Given the description of an element on the screen output the (x, y) to click on. 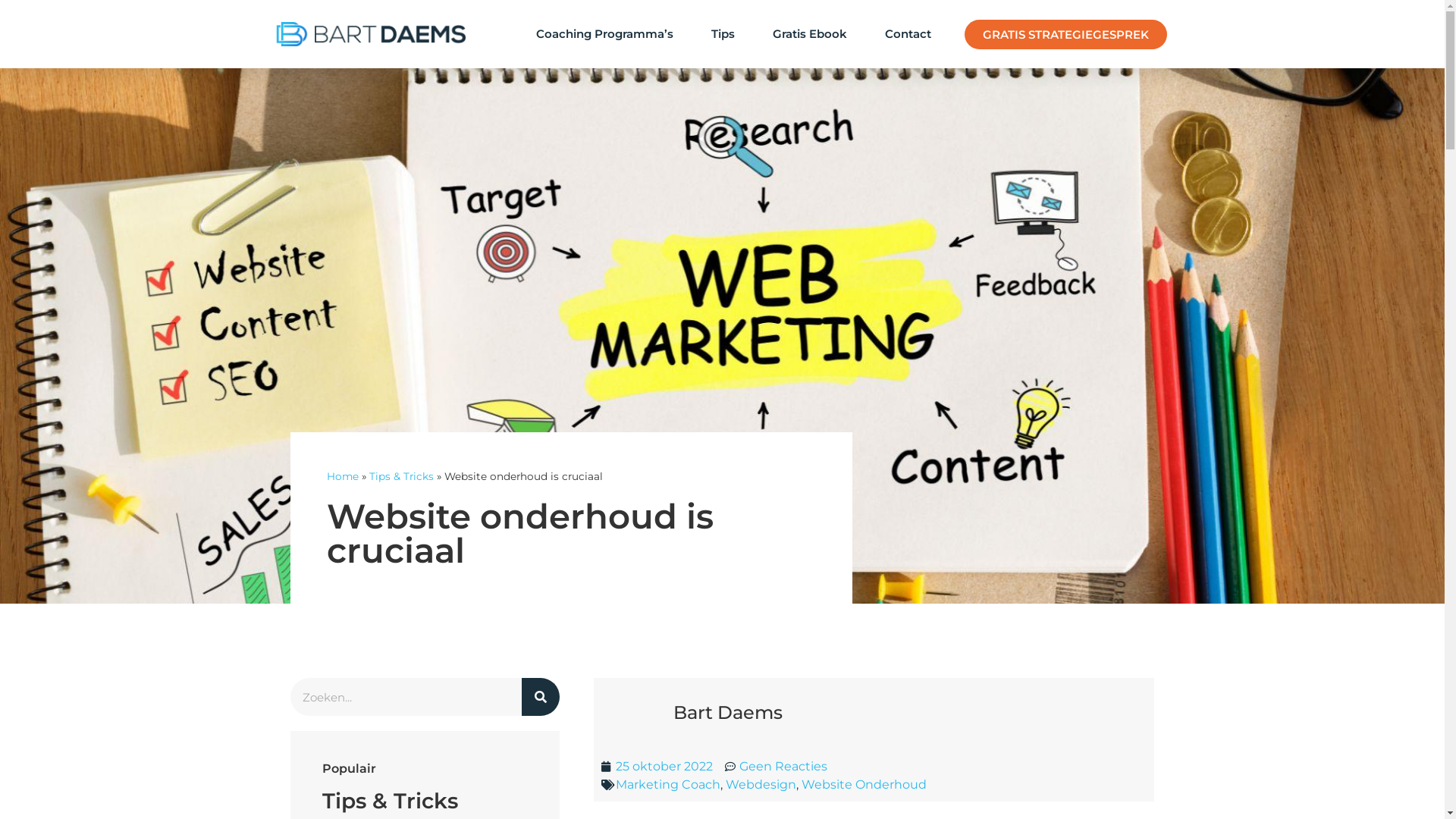
Gratis Ebook Element type: text (809, 34)
Marketing Coach Element type: text (667, 784)
Tips Element type: text (722, 34)
Website Onderhoud Element type: text (862, 784)
Geen Reacties Element type: text (775, 766)
Contact Element type: text (907, 34)
Home Element type: text (341, 476)
Webdesign Element type: text (759, 784)
GRATIS STRATEGIEGESPREK Element type: text (1065, 34)
Tips & Tricks Element type: text (400, 476)
25 oktober 2022 Element type: text (656, 766)
